Given the description of an element on the screen output the (x, y) to click on. 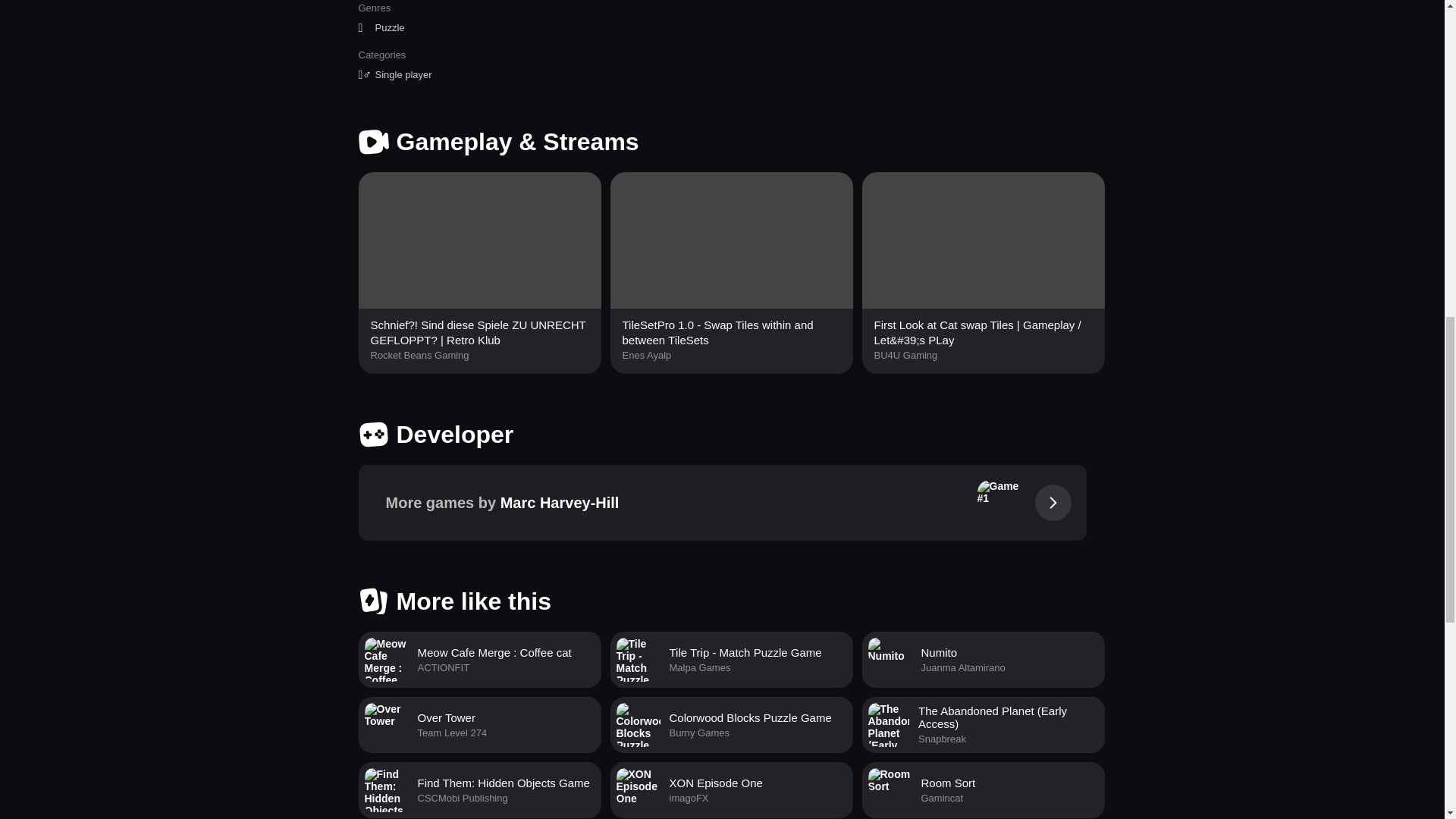
More games by Marc Harvey-Hill (478, 790)
